Given the description of an element on the screen output the (x, y) to click on. 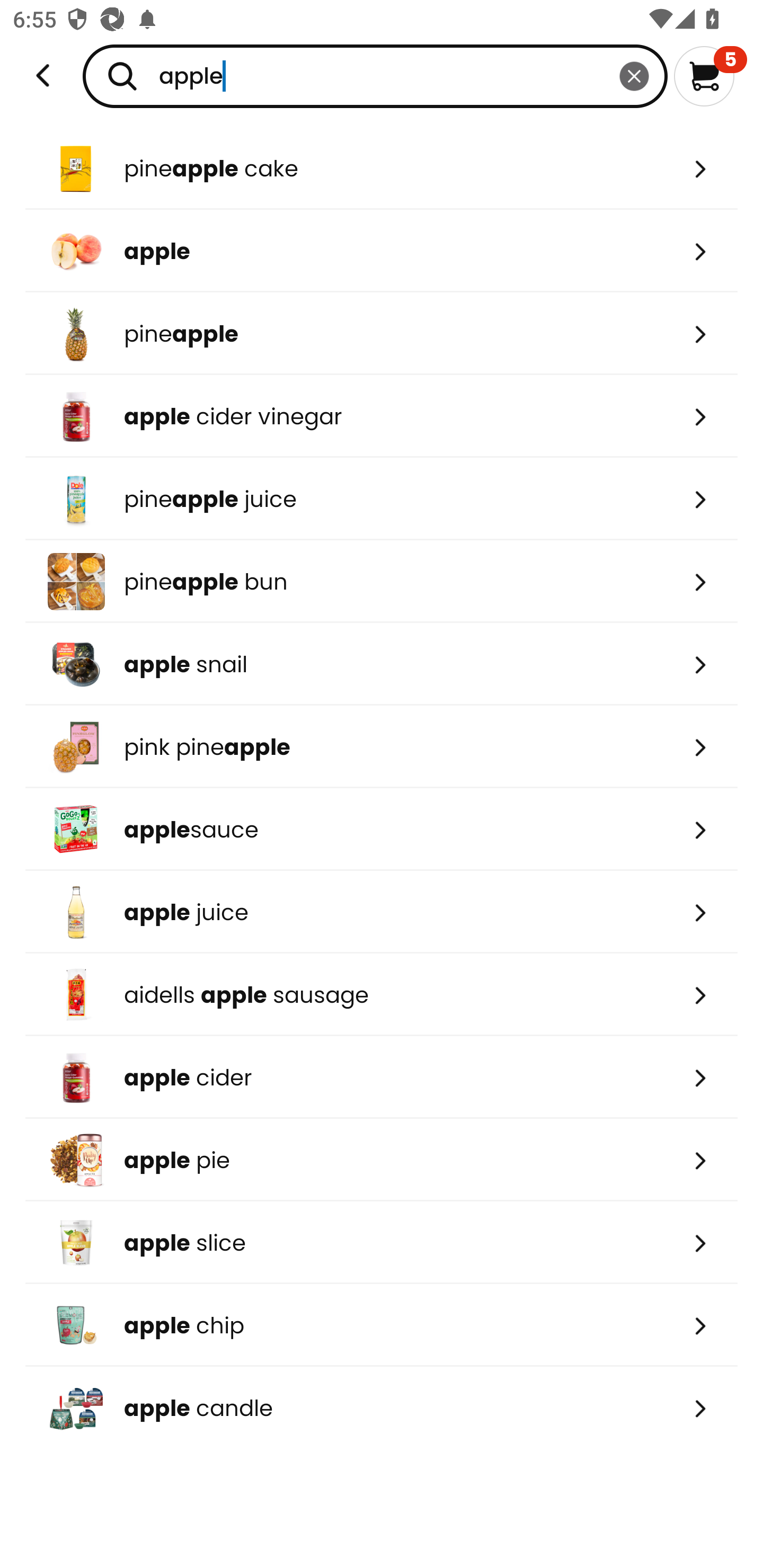
apple (374, 75)
5 (709, 75)
Weee! (42, 76)
pineapple cake (381, 168)
apple (381, 250)
pineapple (381, 332)
apple cider vinegar (381, 415)
pineapple juice (381, 498)
pineapple bun (381, 581)
apple snail (381, 663)
pink pineapple (381, 746)
applesauce (381, 829)
apple juice (381, 911)
aidells apple sausage (381, 994)
apple cider (381, 1077)
apple pie (381, 1160)
apple slice (381, 1242)
apple chip (381, 1325)
apple candle (381, 1407)
